Given the description of an element on the screen output the (x, y) to click on. 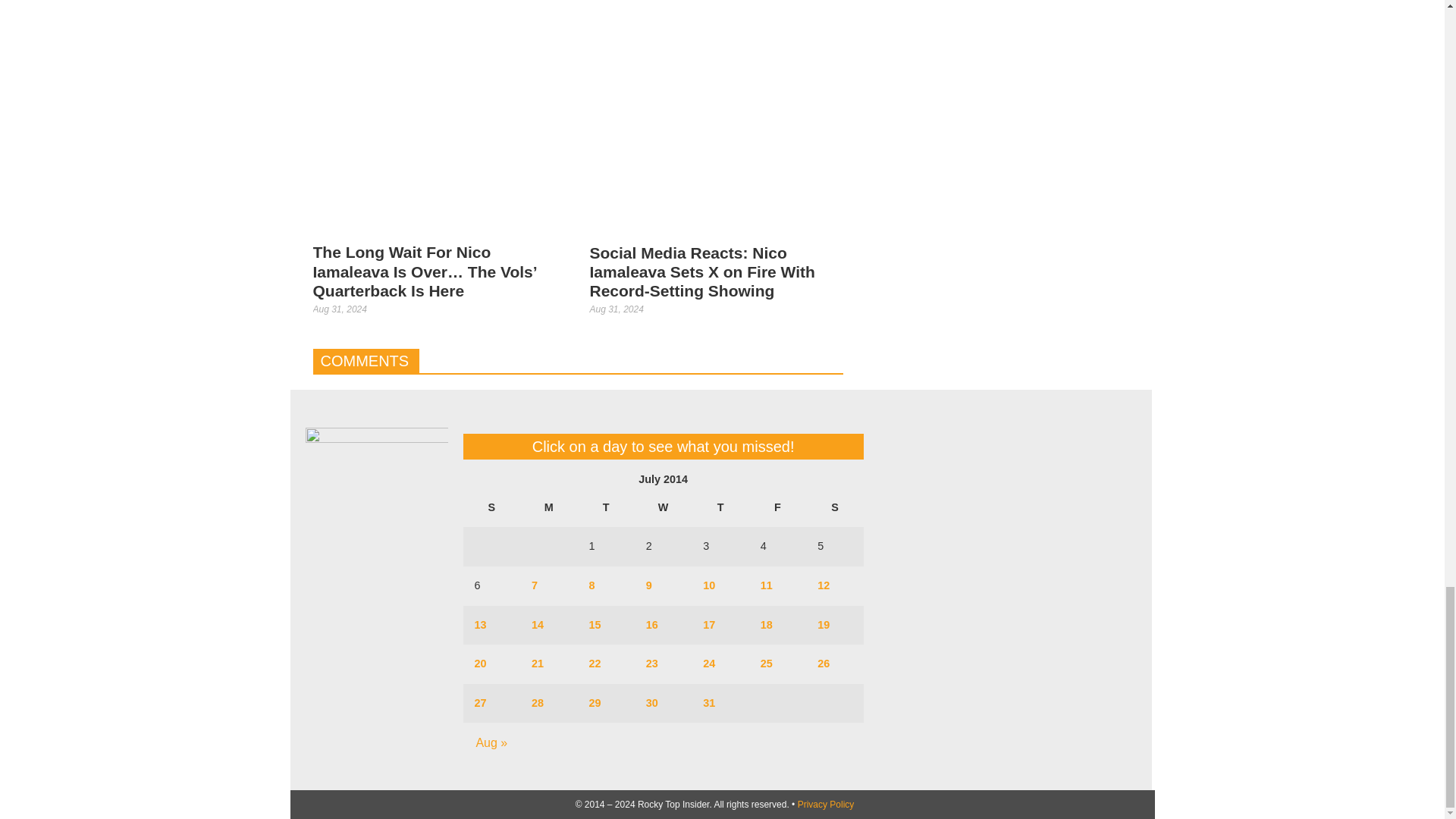
Monday (547, 507)
Tuesday (604, 507)
Saturday (834, 507)
Sunday (491, 507)
Friday (777, 507)
Wednesday (662, 507)
Thursday (719, 507)
